Given the description of an element on the screen output the (x, y) to click on. 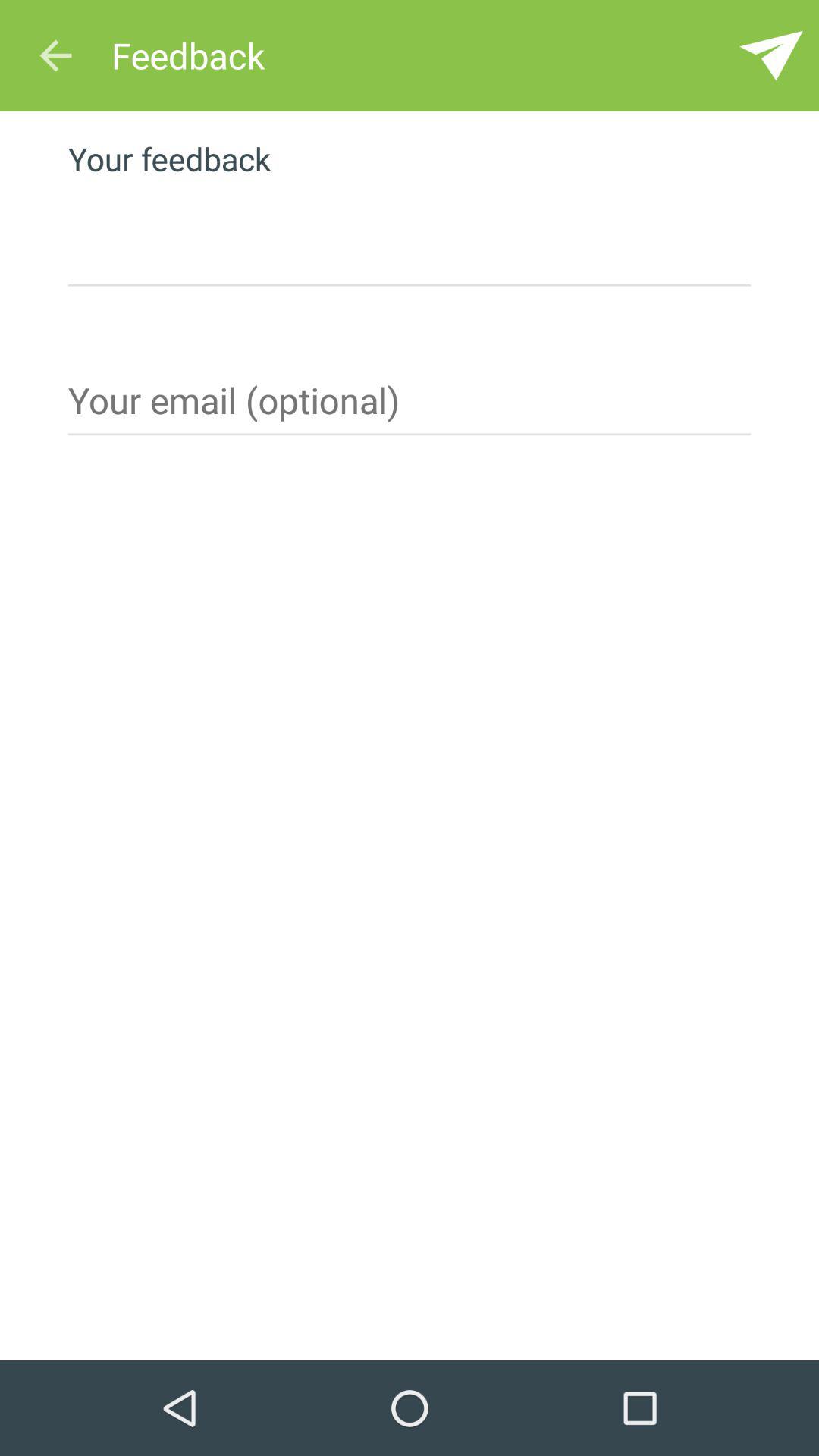
create email option (409, 406)
